Given the description of an element on the screen output the (x, y) to click on. 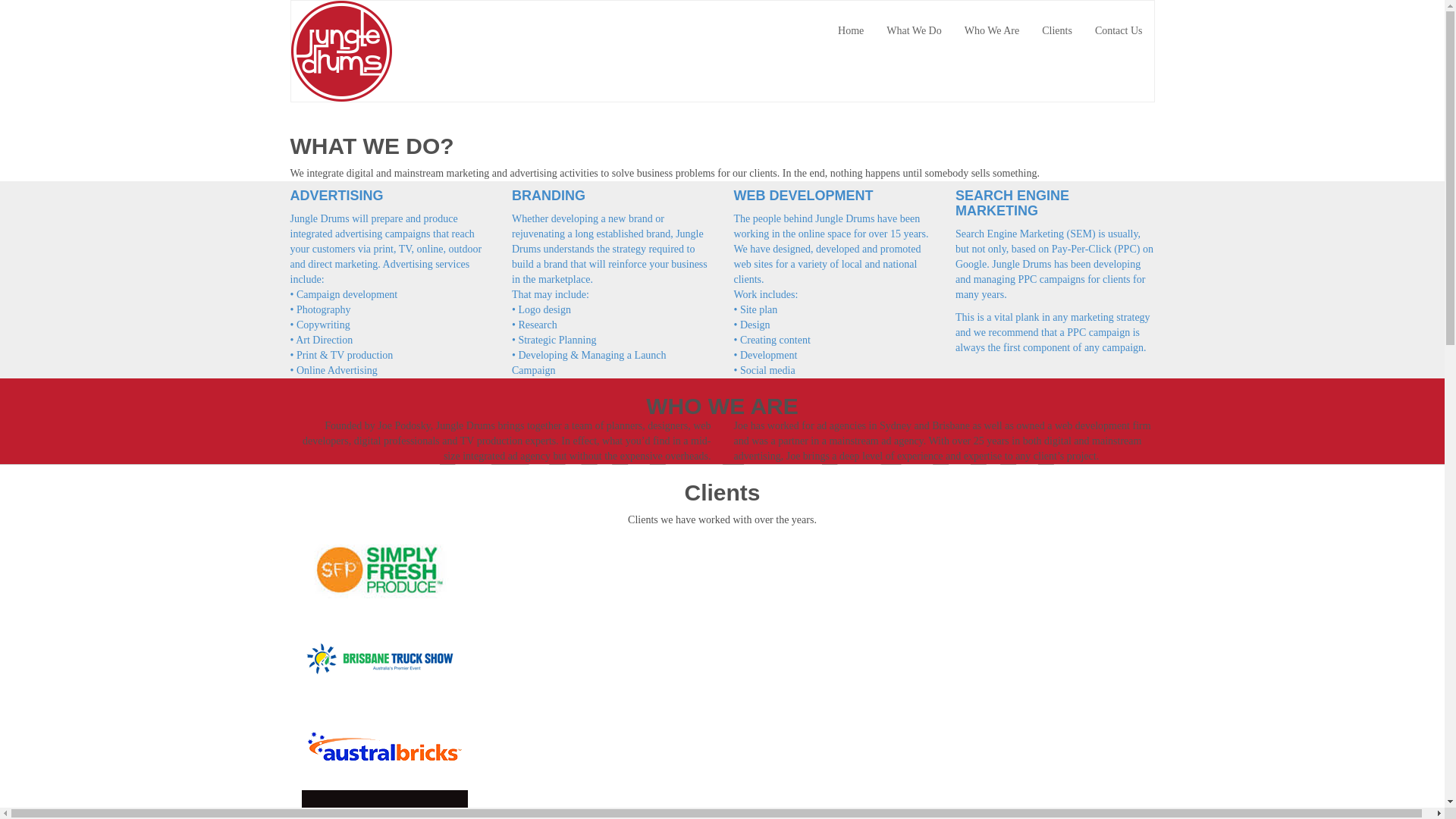
What We Do Element type: text (913, 30)
Home Element type: text (850, 30)
Contact Us Element type: text (1118, 30)
Who We Are Element type: text (991, 30)
Clients Element type: text (1056, 30)
